Given the description of an element on the screen output the (x, y) to click on. 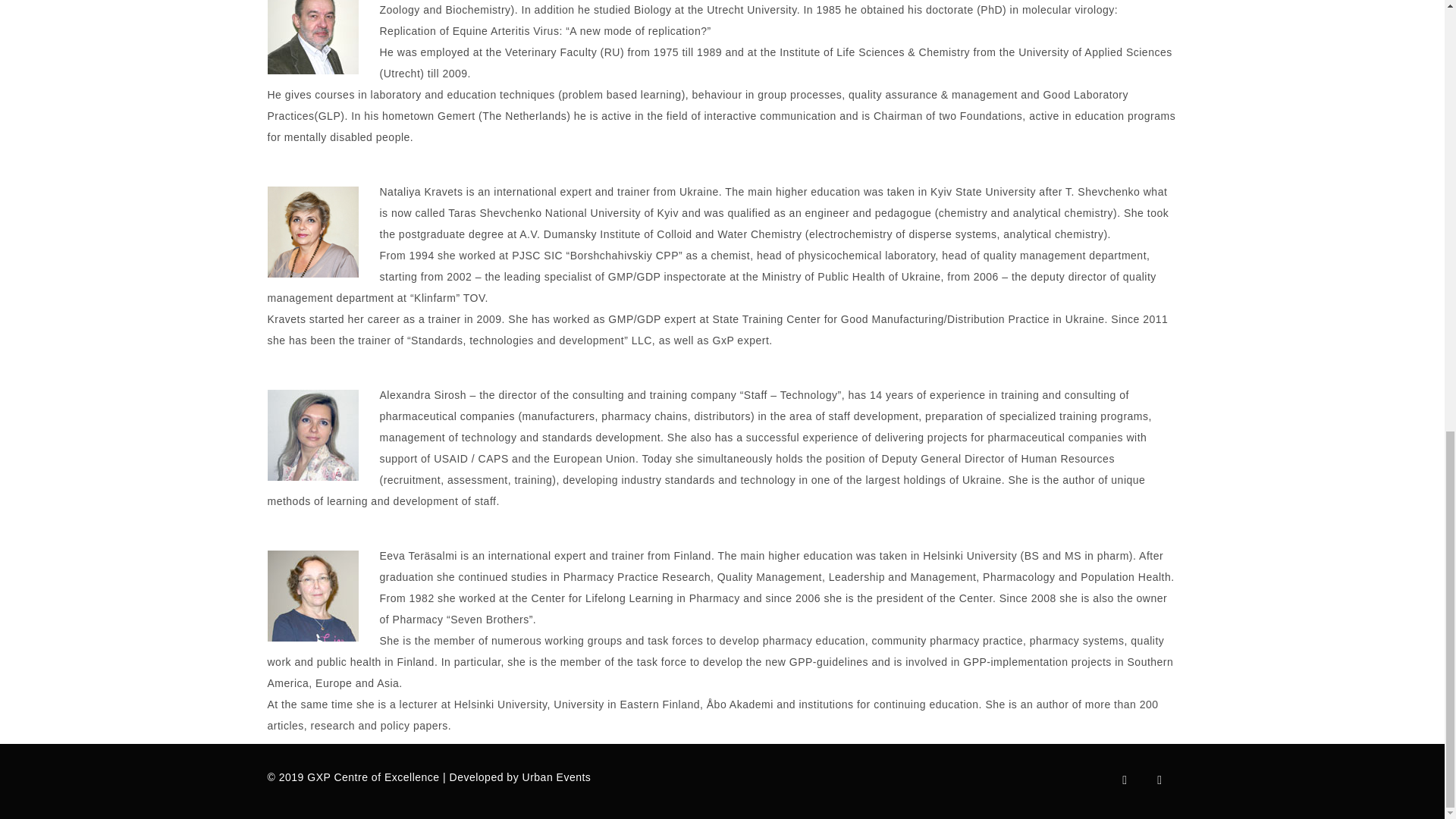
Urban Events (556, 776)
